Given the description of an element on the screen output the (x, y) to click on. 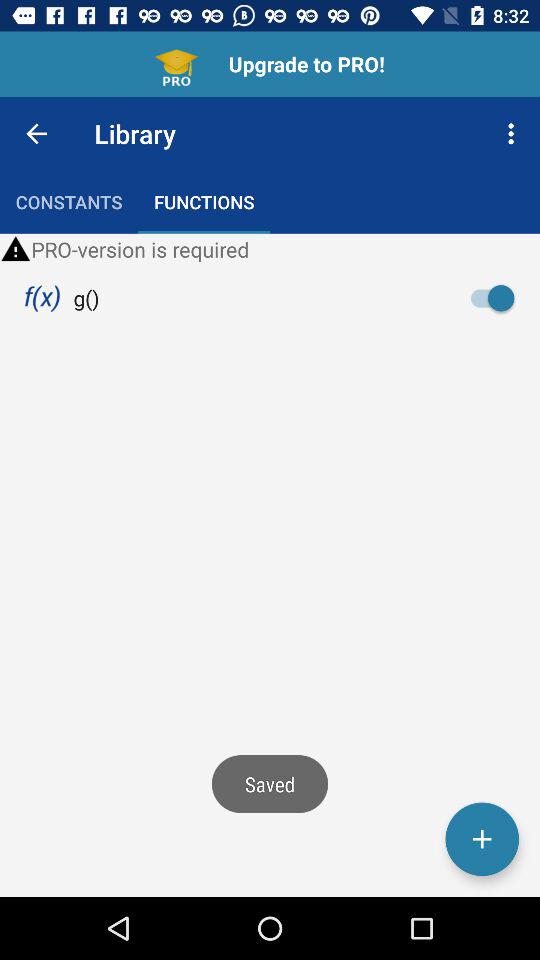
turn on the item above pro version is item (513, 133)
